Given the description of an element on the screen output the (x, y) to click on. 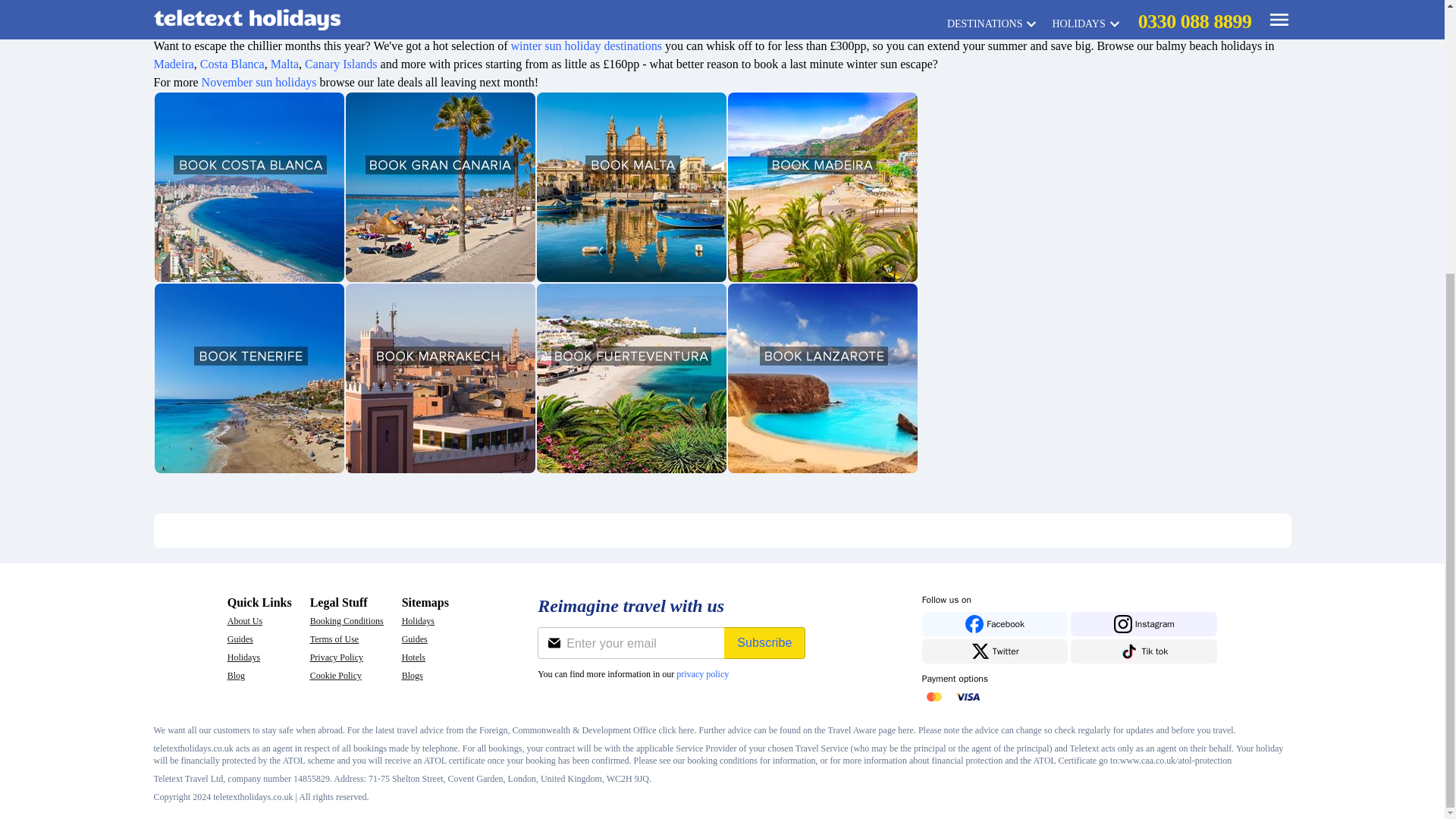
Privacy Policy (347, 657)
Book Tenerife (248, 378)
Twitter (994, 651)
Malta (284, 63)
Facebook (994, 623)
winter sun holiday destinations (586, 45)
Holidays (424, 621)
Instagram (1143, 623)
November sun holidays (259, 82)
Hotels (424, 657)
Cookie Policy (347, 675)
Book Marrakech (440, 378)
Booking Conditions (347, 621)
Blog (259, 675)
Holidays (259, 657)
